Given the description of an element on the screen output the (x, y) to click on. 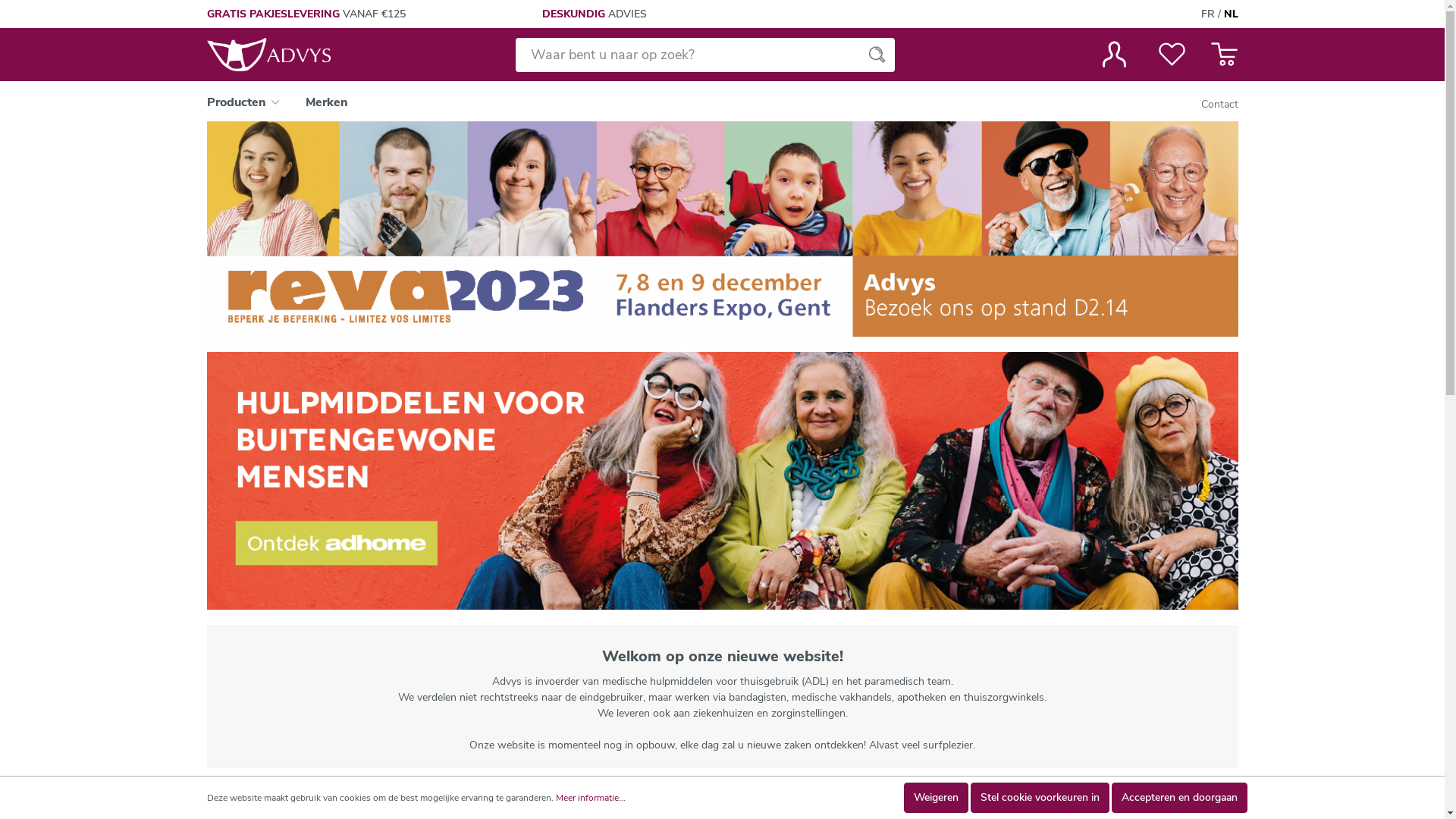
Weigeren Element type: text (935, 797)
Accepteren en doorgaan Element type: text (1179, 797)
Naar de startpagina Element type: hover (267, 54)
Stel cookie voorkeuren in Element type: text (1039, 797)
Verlanglijst Element type: hover (1171, 54)
Meer informatie... Element type: text (589, 797)
Merken Element type: text (326, 104)
Winkelmandje Element type: hover (1219, 54)
Producten Element type: text (249, 104)
Contact Element type: text (1219, 104)
